Given the description of an element on the screen output the (x, y) to click on. 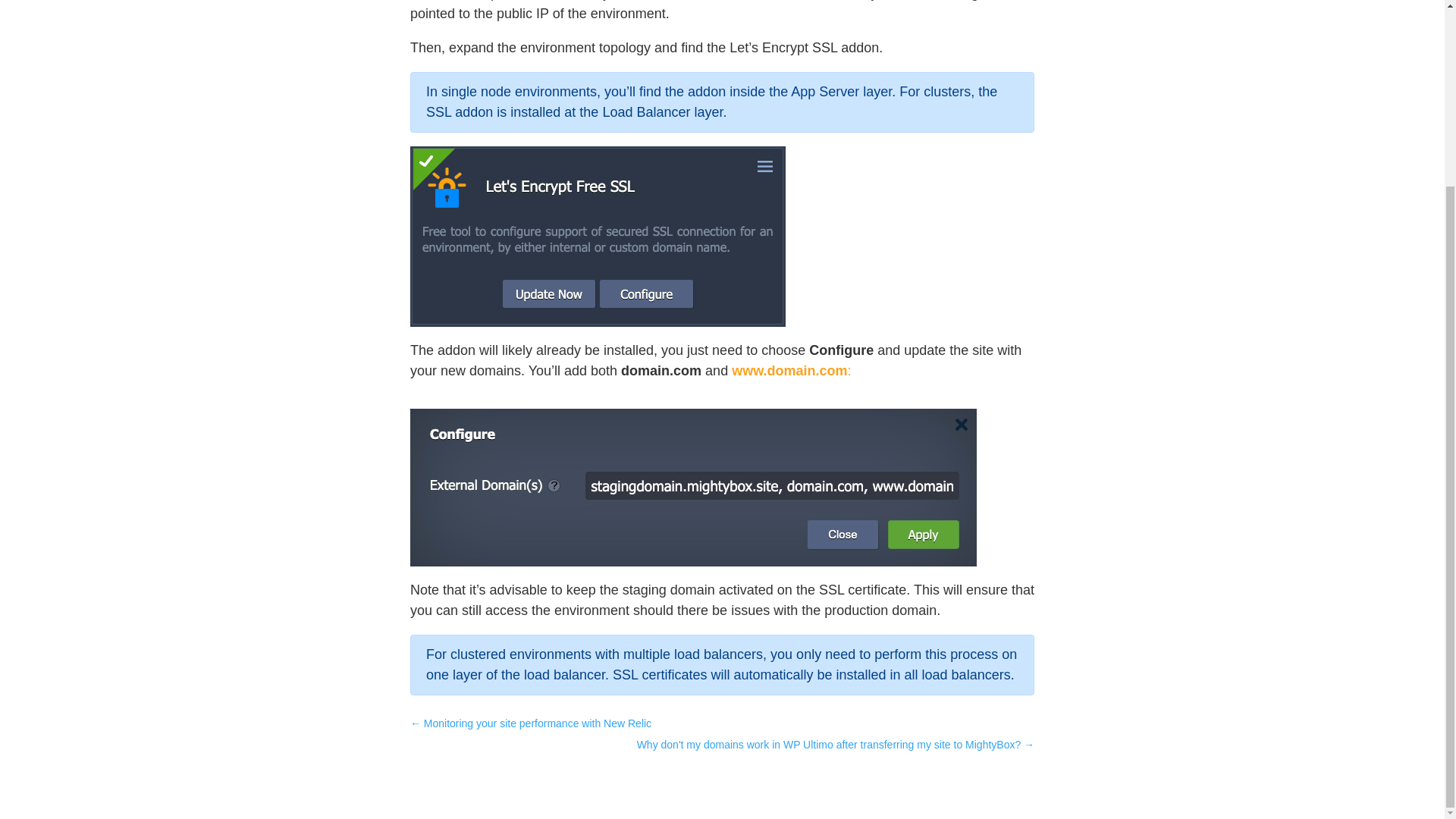
www.domain.com: (791, 370)
